Given the description of an element on the screen output the (x, y) to click on. 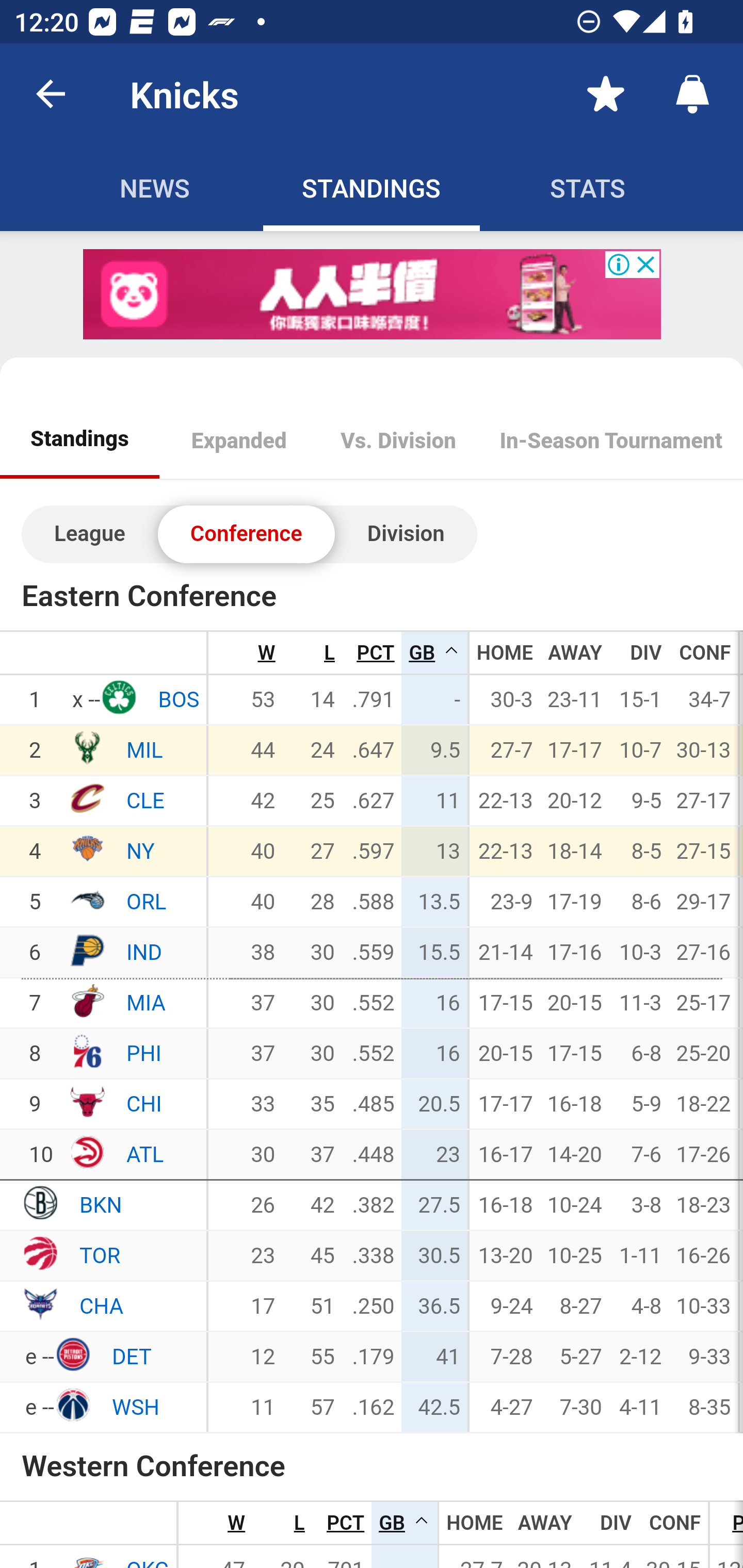
back.button (50, 93)
Favorite toggle (605, 93)
Alerts (692, 93)
News NEWS (154, 187)
Stats STATS (587, 187)
SafeFrame Container Advertisement Advertisement (372, 294)
Standings Standings Standings (80, 441)
Expanded Expanded Expanded (239, 441)
Vs. Division Vs. Division Vs. Division (398, 441)
League (90, 534)
Conference (245, 534)
Division (405, 534)
W (266, 653)
L (329, 653)
PCT (375, 653)
GB (434, 653)
BOS (117, 698)
BOS Boston Celtics (177, 699)
MIL (87, 748)
MIL Milwaukee Bucks (145, 749)
CLE (87, 799)
CLE Cleveland Cavaliers (146, 800)
NY (87, 849)
NY New York Knicks (140, 850)
ORL (87, 900)
ORL Orlando Magic (146, 901)
IND (87, 950)
IND Indiana Pacers (144, 952)
MIA (87, 1001)
MIA Miami Heat (146, 1002)
PHI (87, 1052)
PHI Philadelphia 76ers (144, 1052)
CHI (87, 1102)
CHI Chicago Bulls (144, 1102)
ATL (87, 1153)
ATL Atlanta Hawks (145, 1154)
BKN (39, 1204)
BKN Brooklyn Nets (100, 1204)
TOR (39, 1254)
TOR Toronto Raptors (99, 1254)
CHA (39, 1304)
CHA Charlotte Hornets (101, 1305)
DET (72, 1355)
DET Detroit Pistons (130, 1356)
WSH (72, 1406)
WSH Washington Wizards (134, 1406)
W (236, 1522)
L (298, 1522)
PCT (345, 1522)
GB (404, 1522)
OKC (87, 1557)
